Given the description of an element on the screen output the (x, y) to click on. 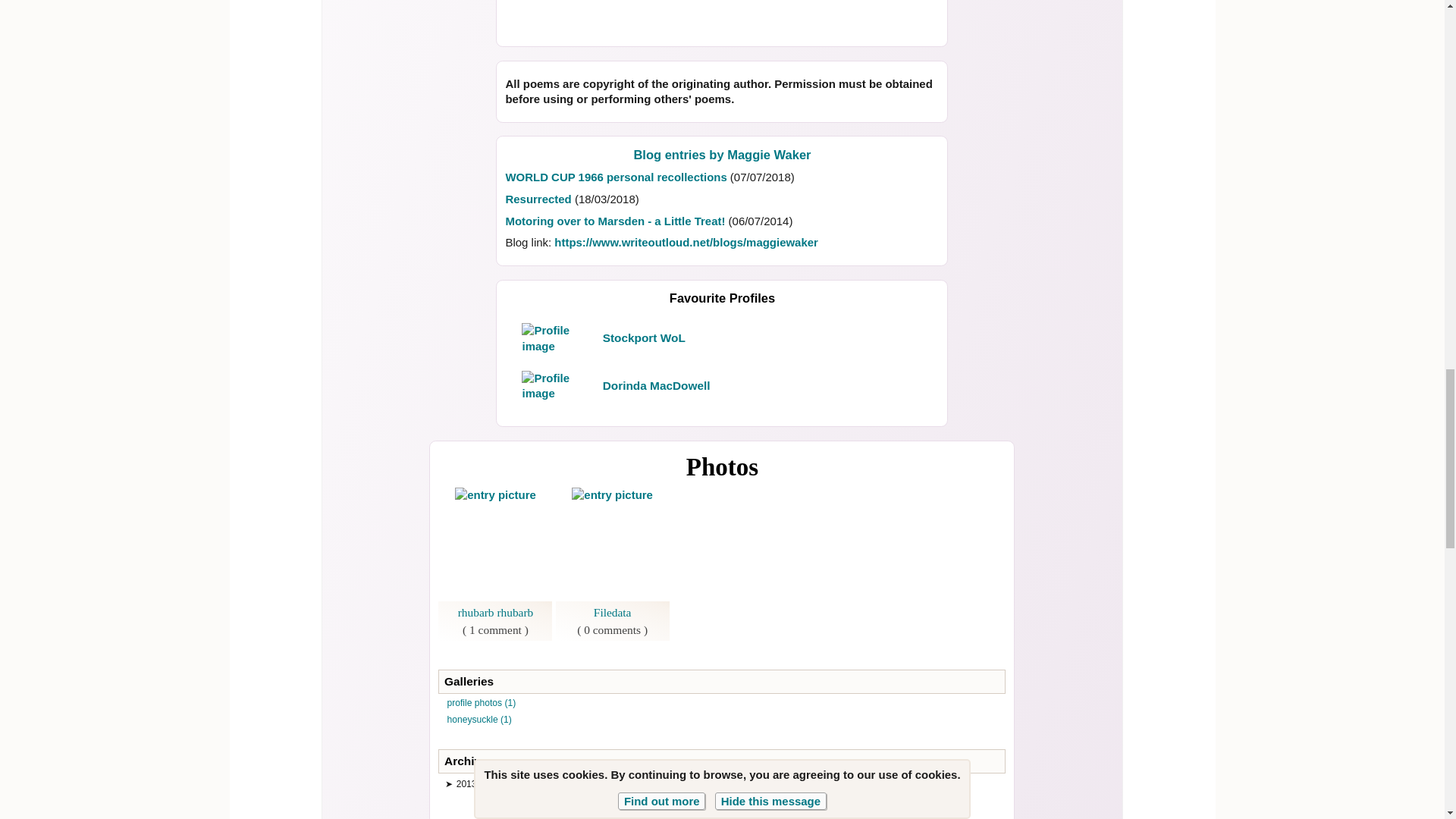
WORLD CUP 1966 personal recollections (615, 176)
Filedata (612, 612)
Stockport WoL (643, 337)
Dorinda MacDowell (656, 385)
Blog entries by Maggie Waker (721, 153)
rhubarb rhubarb (496, 612)
Motoring over to Marsden - a Little Treat! (615, 219)
Resurrected (537, 198)
